Given the description of an element on the screen output the (x, y) to click on. 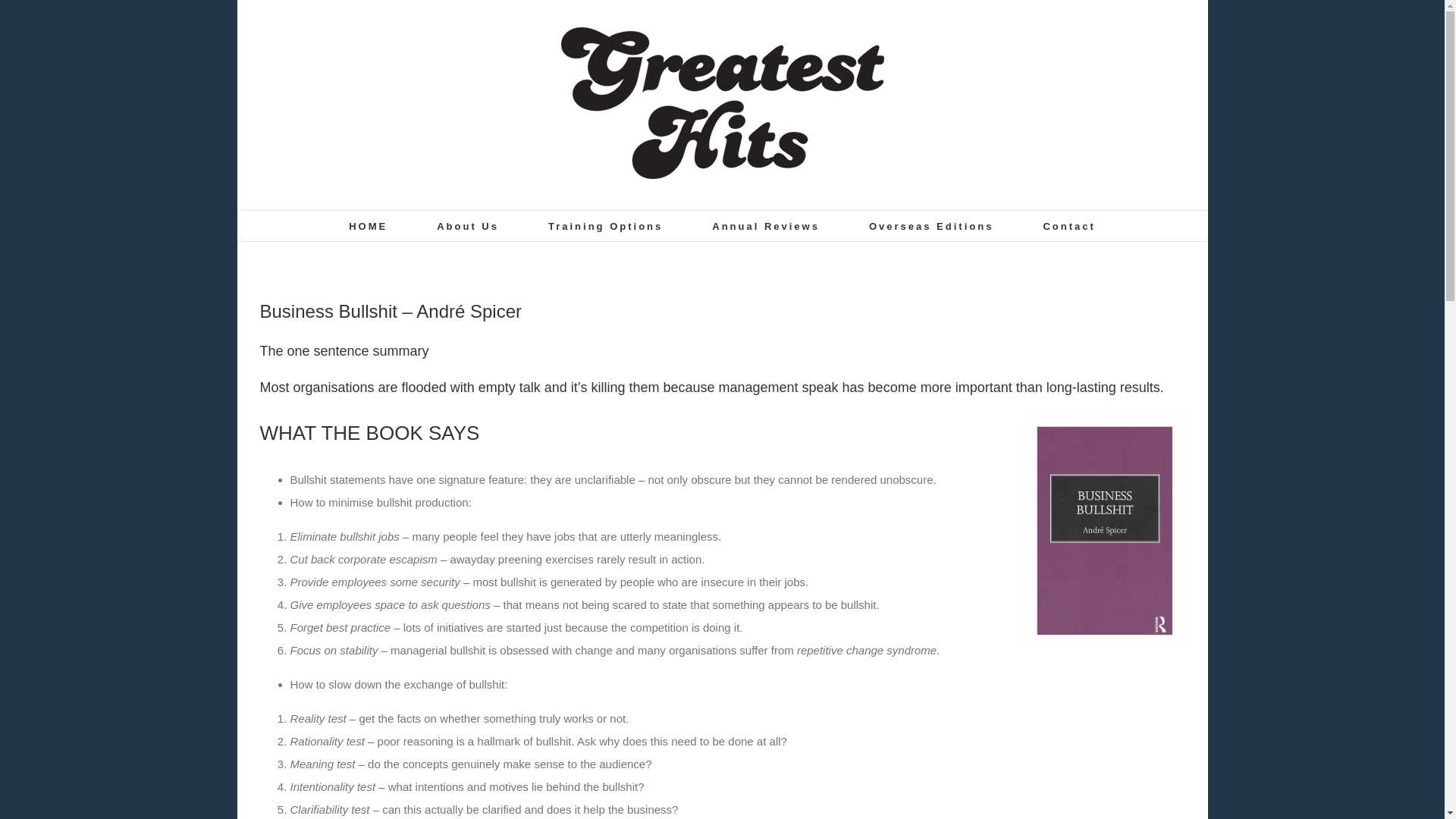
About Us (467, 225)
Annual Reviews (765, 225)
Training Options (605, 225)
Contact (1068, 225)
HOME (368, 225)
Overseas Editions (930, 225)
